Given the description of an element on the screen output the (x, y) to click on. 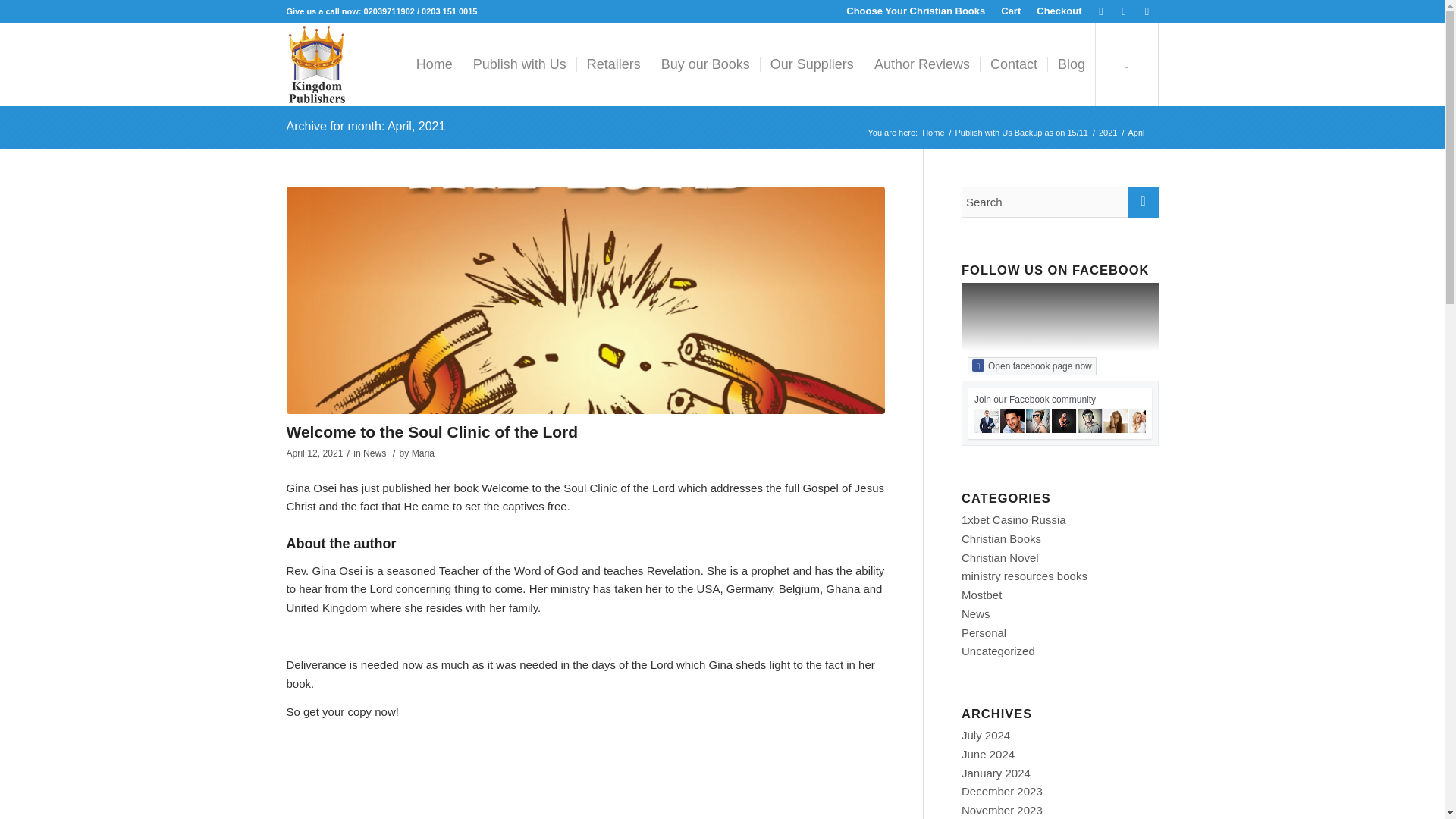
Personal (983, 632)
ministry resources books (1023, 575)
Twitter (1124, 11)
Permanent Link: Welcome to the Soul Clinic of the Lord (432, 431)
Our Suppliers (811, 64)
Mostbet (980, 594)
Christian Novel (999, 557)
Posts by Maria (422, 452)
Kingdom Publishers (933, 132)
Facebook (1101, 11)
2021 (1107, 132)
1xbet Casino Russia (1012, 519)
Open facebook page now (1032, 366)
Buy our Books (705, 64)
Retailers (613, 64)
